Given the description of an element on the screen output the (x, y) to click on. 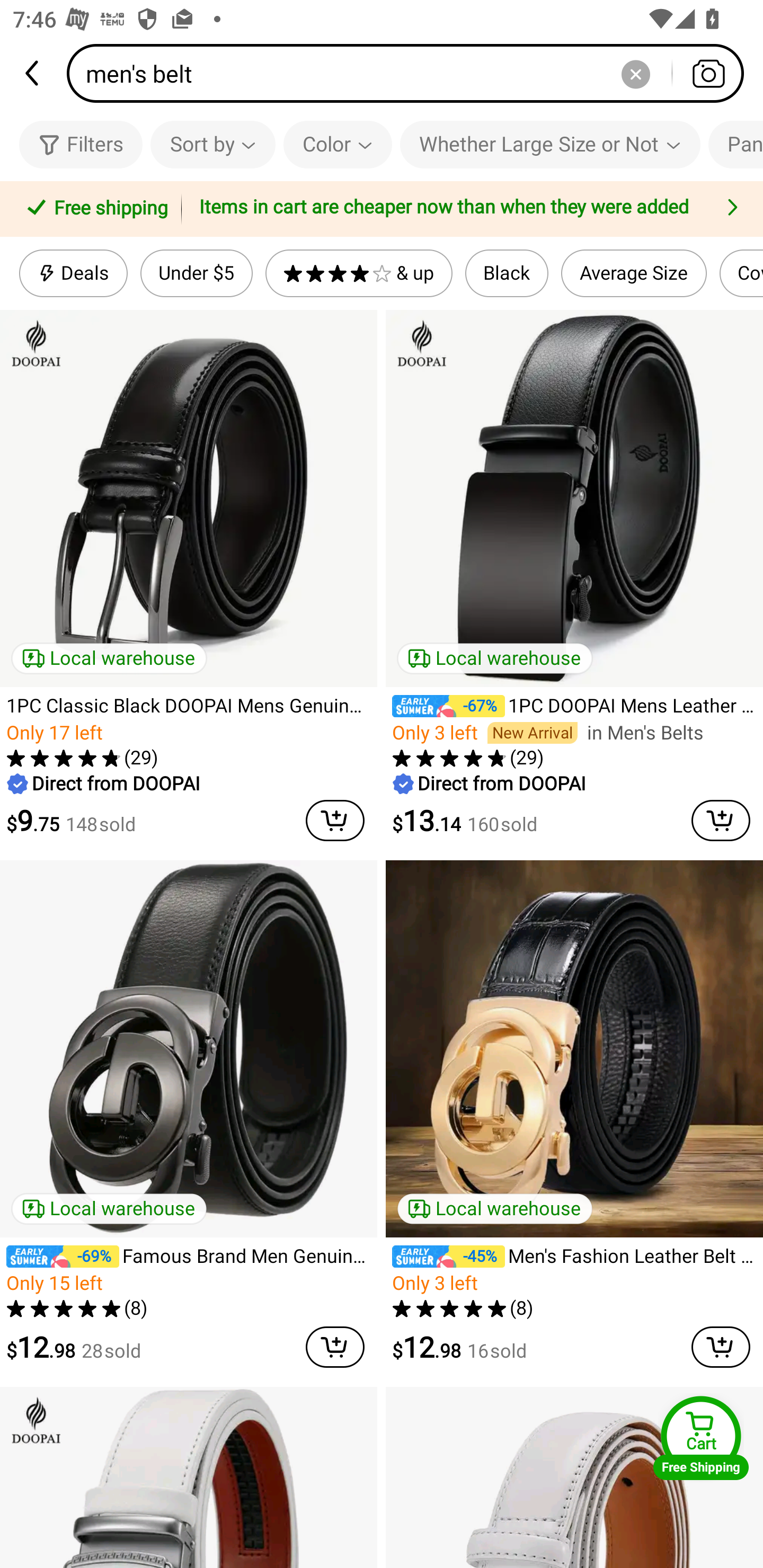
back (33, 72)
men's belt (411, 73)
Delete search history (635, 73)
Search by photo (708, 73)
Filters (80, 143)
Sort by (212, 143)
Color (337, 143)
Whether Large Size or Not (549, 143)
 Free shipping (93, 208)
Deals (73, 273)
Under $5 (196, 273)
& up (358, 273)
Black (506, 273)
Average Size (633, 273)
Cart Free Shipping Cart (701, 1437)
